Given the description of an element on the screen output the (x, y) to click on. 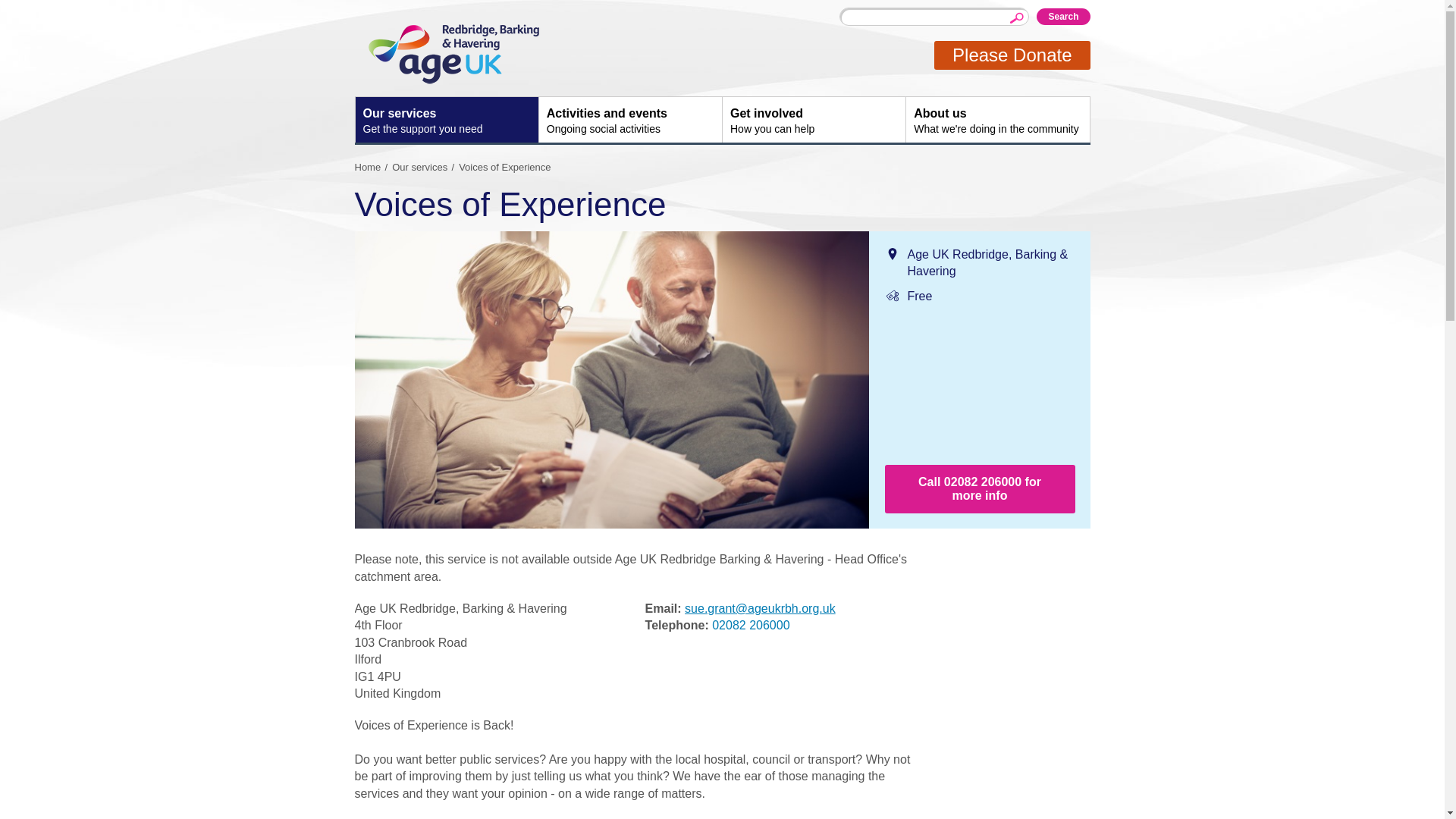
Search (813, 119)
Search (1062, 16)
Title (1062, 16)
Please Donate (424, 166)
Title (630, 119)
Search (446, 119)
